Given the description of an element on the screen output the (x, y) to click on. 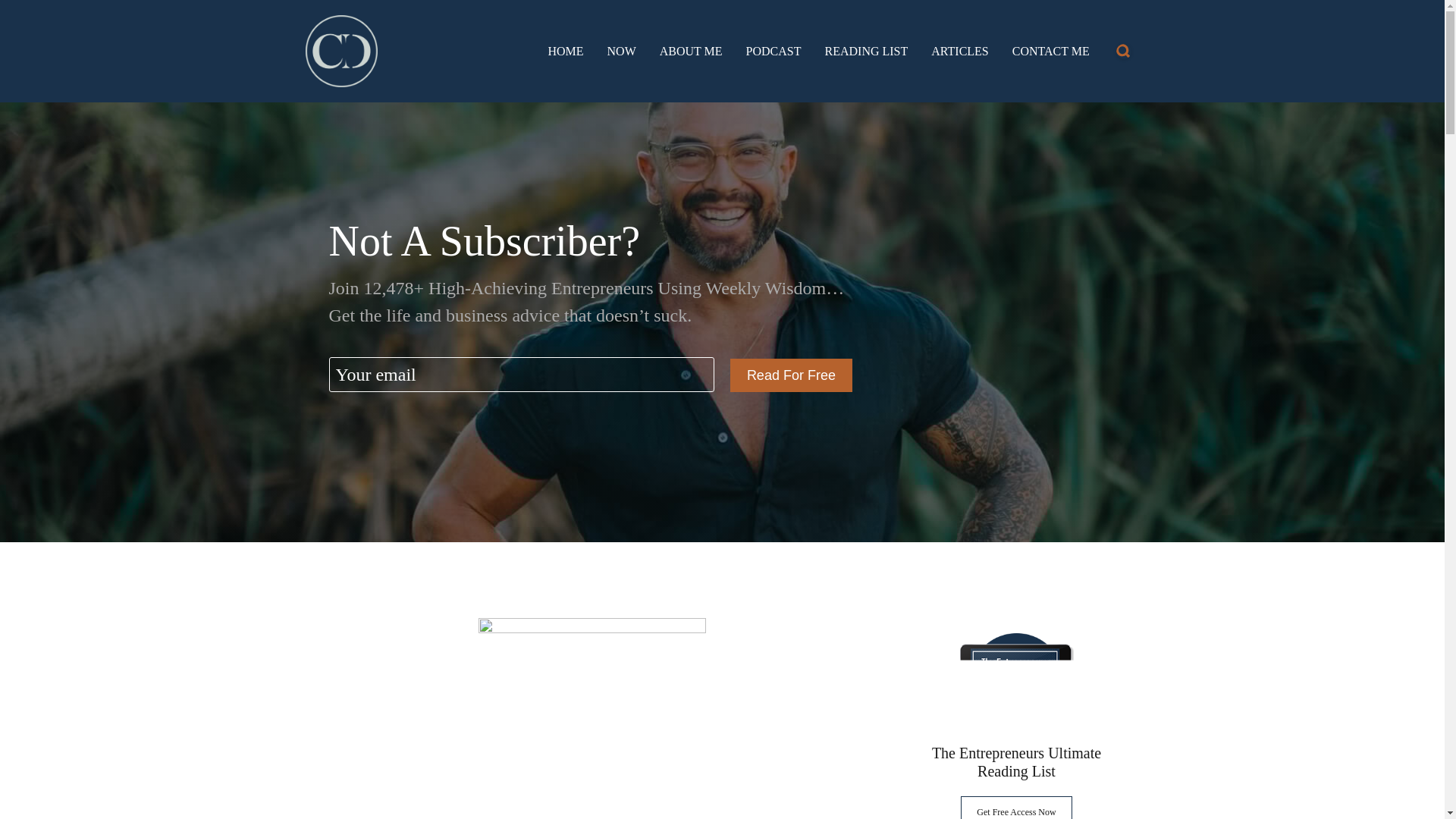
The-Entrepreneurs-Ultimate-Reading-List-IMG (1016, 680)
PODCAST (773, 51)
Read For Free (790, 374)
CONTACT ME (1050, 51)
ARTICLES (959, 51)
Read For Free (790, 374)
HOME (565, 51)
ABOUT ME (690, 51)
Get Free Access Now (1015, 807)
READING LIST (866, 51)
NOW (621, 51)
